Given the description of an element on the screen output the (x, y) to click on. 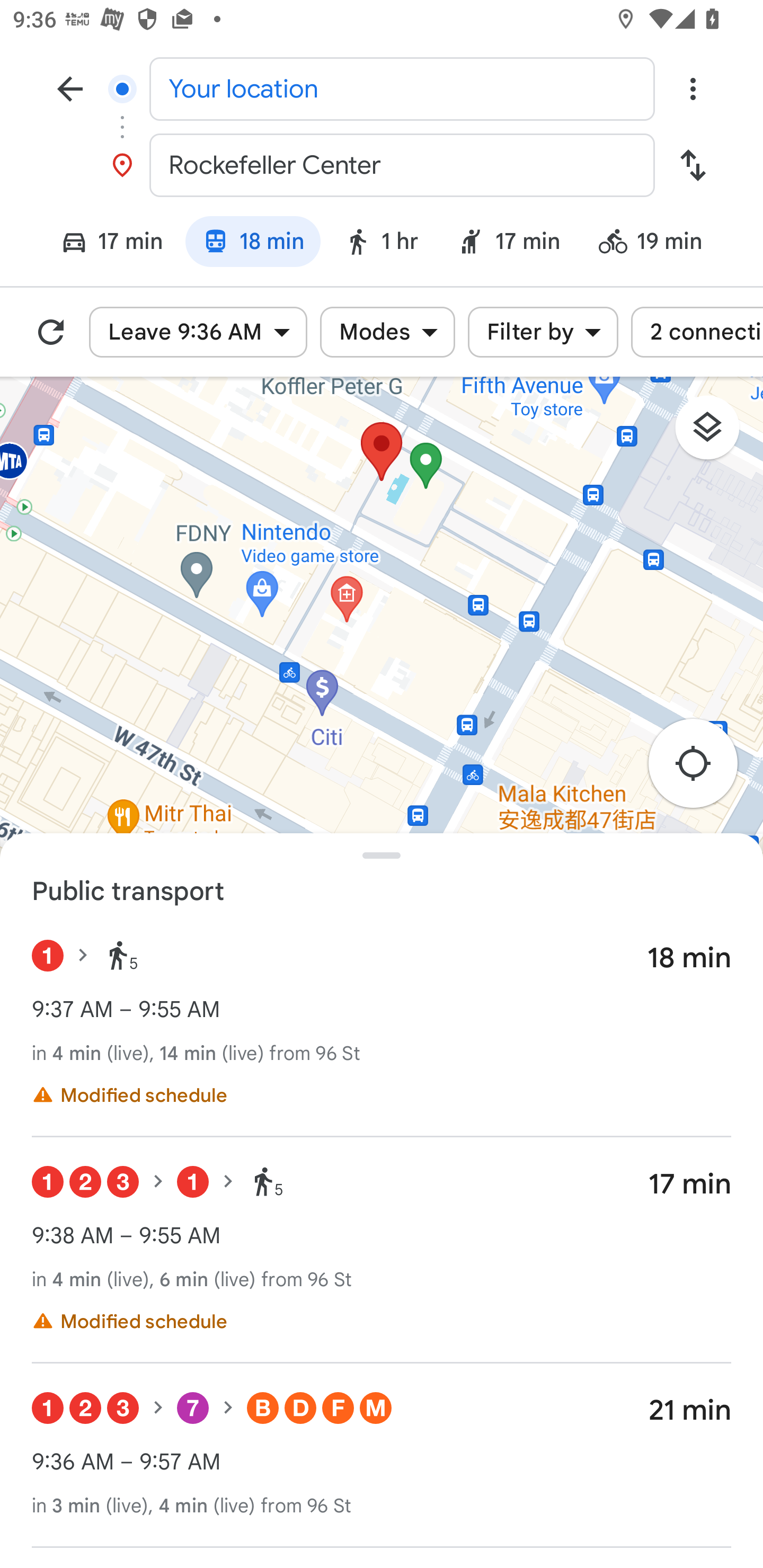
Navigate up (70, 88)
Your location Start location, Your location (381, 88)
Overflow menu (692, 88)
Rockefeller Center Destination, Rockefeller Center (381, 165)
Swap start and destination (692, 165)
Driving mode: 17 min 17 min (103, 244)
Walking mode: 1 hr 1 hr (380, 244)
Ride service: 17 min 17 min (508, 244)
Bicycling mode: 19 min 19 min (658, 244)
Refresh (50, 332)
Leave 9:36 AM Leave 9:36 AM Leave 9:36 AM (198, 332)
Modes Modes Modes (387, 332)
Filter by Filter by Filter by (542, 332)
Layers (716, 433)
Re-center map to your location (702, 767)
